Given the description of an element on the screen output the (x, y) to click on. 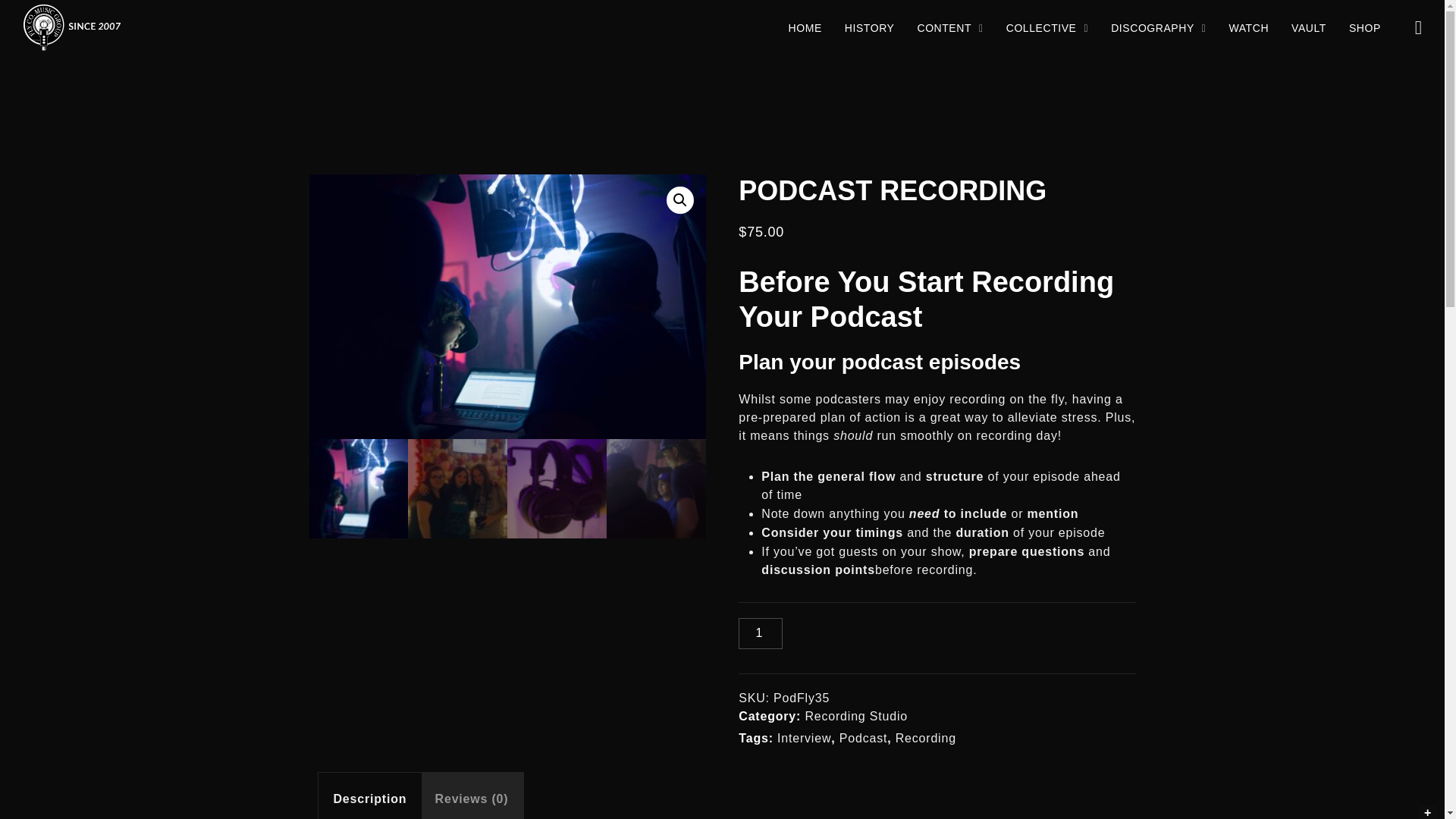
HISTORY (868, 28)
Podcast (507, 306)
Qty (760, 633)
LAHS (903, 306)
HOME (804, 28)
CONTENT (949, 28)
1 (760, 633)
COLLECTIVE (1046, 28)
